Given the description of an element on the screen output the (x, y) to click on. 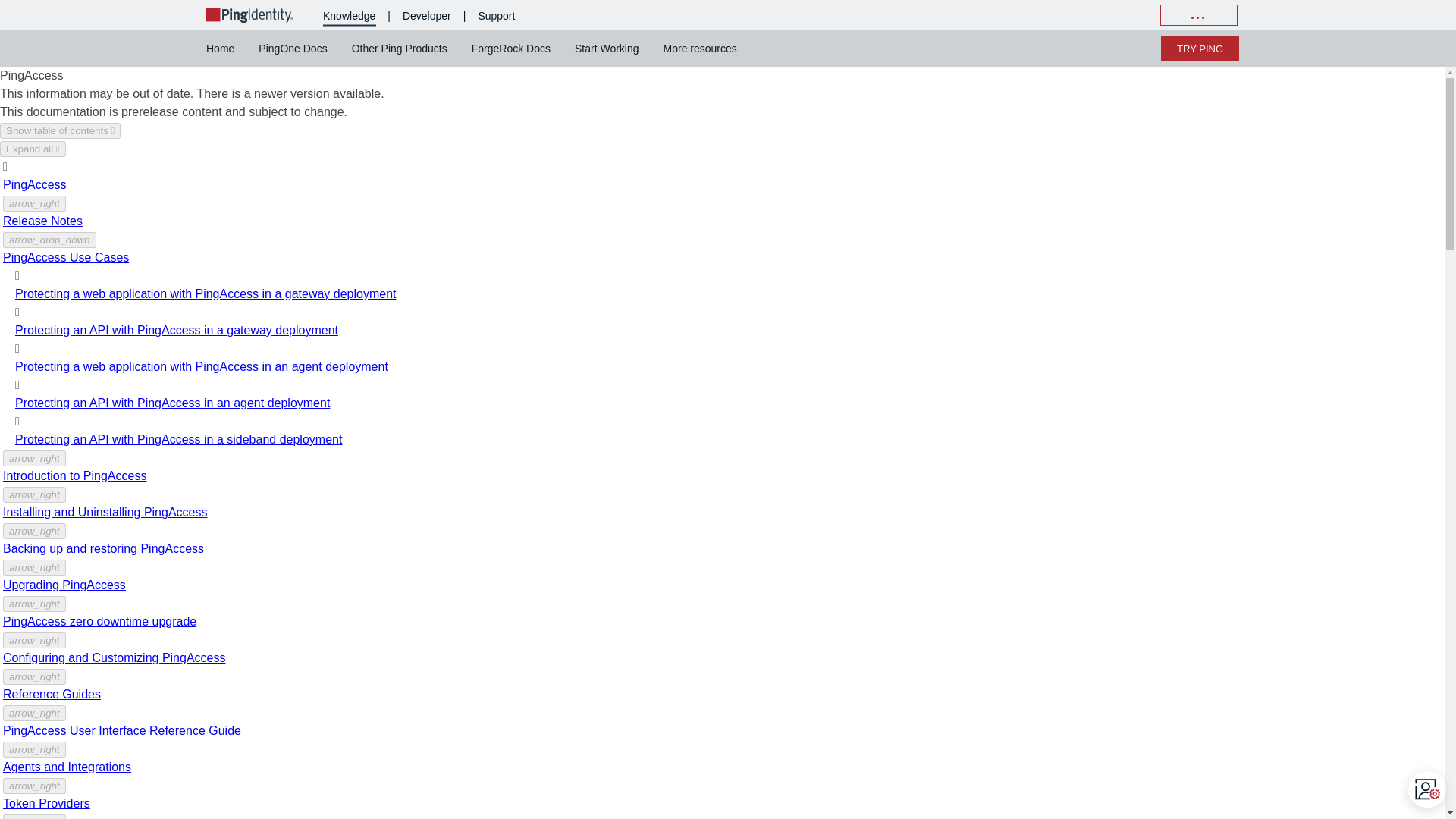
Other Ping Products (399, 48)
ForgeRock Docs (511, 48)
Knowledge (349, 15)
Support (496, 15)
PingOne Docs (292, 48)
Developer (427, 15)
Home (226, 48)
